Given the description of an element on the screen output the (x, y) to click on. 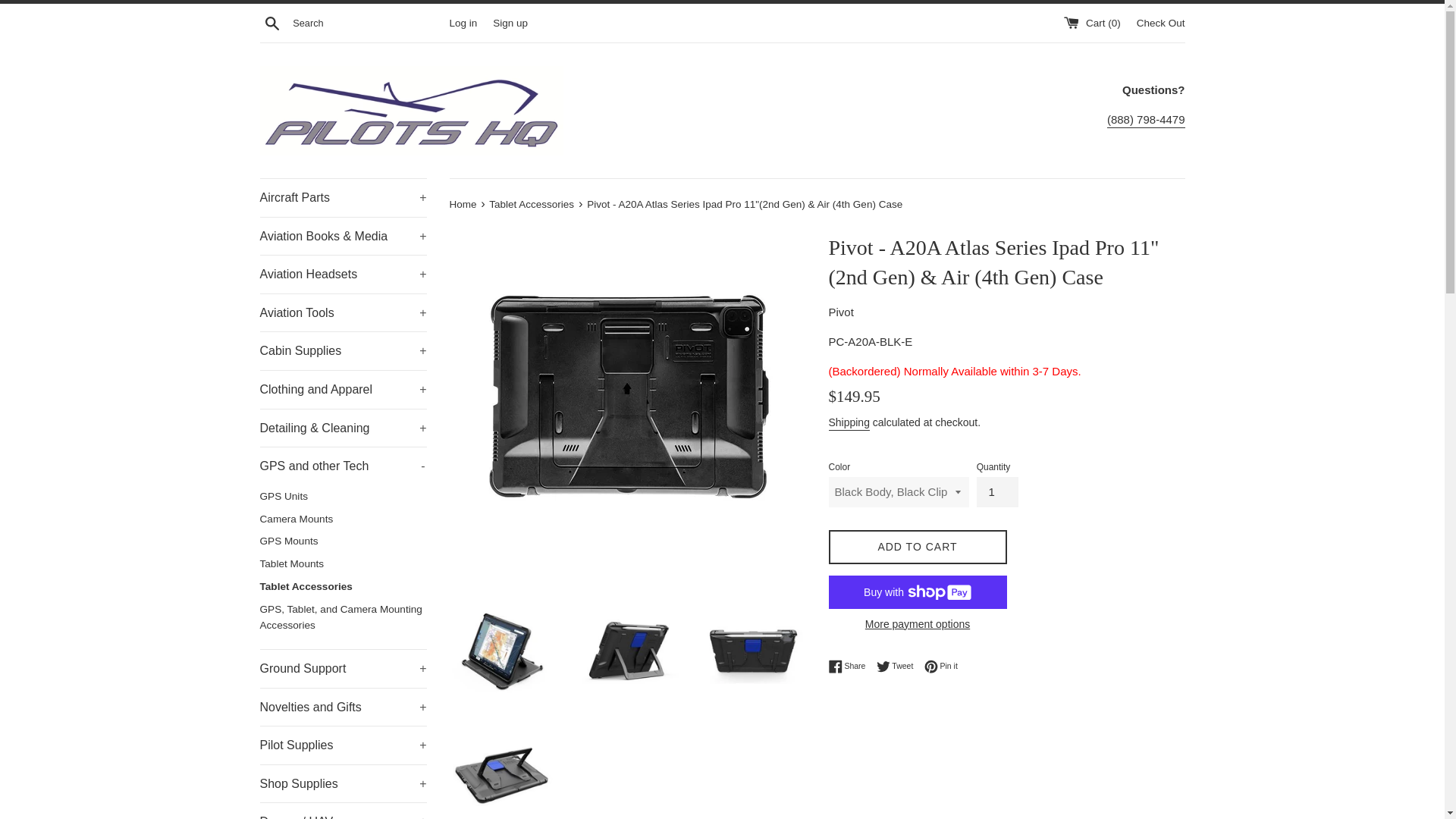
Share on Facebook (850, 666)
Back to the frontpage (463, 204)
Check Out (1161, 21)
Log in (462, 21)
Shopping Cart (1093, 21)
1 (996, 491)
Sign up (510, 21)
Tweet on Twitter (898, 666)
Pin on Pinterest (941, 666)
Search (271, 21)
